Given the description of an element on the screen output the (x, y) to click on. 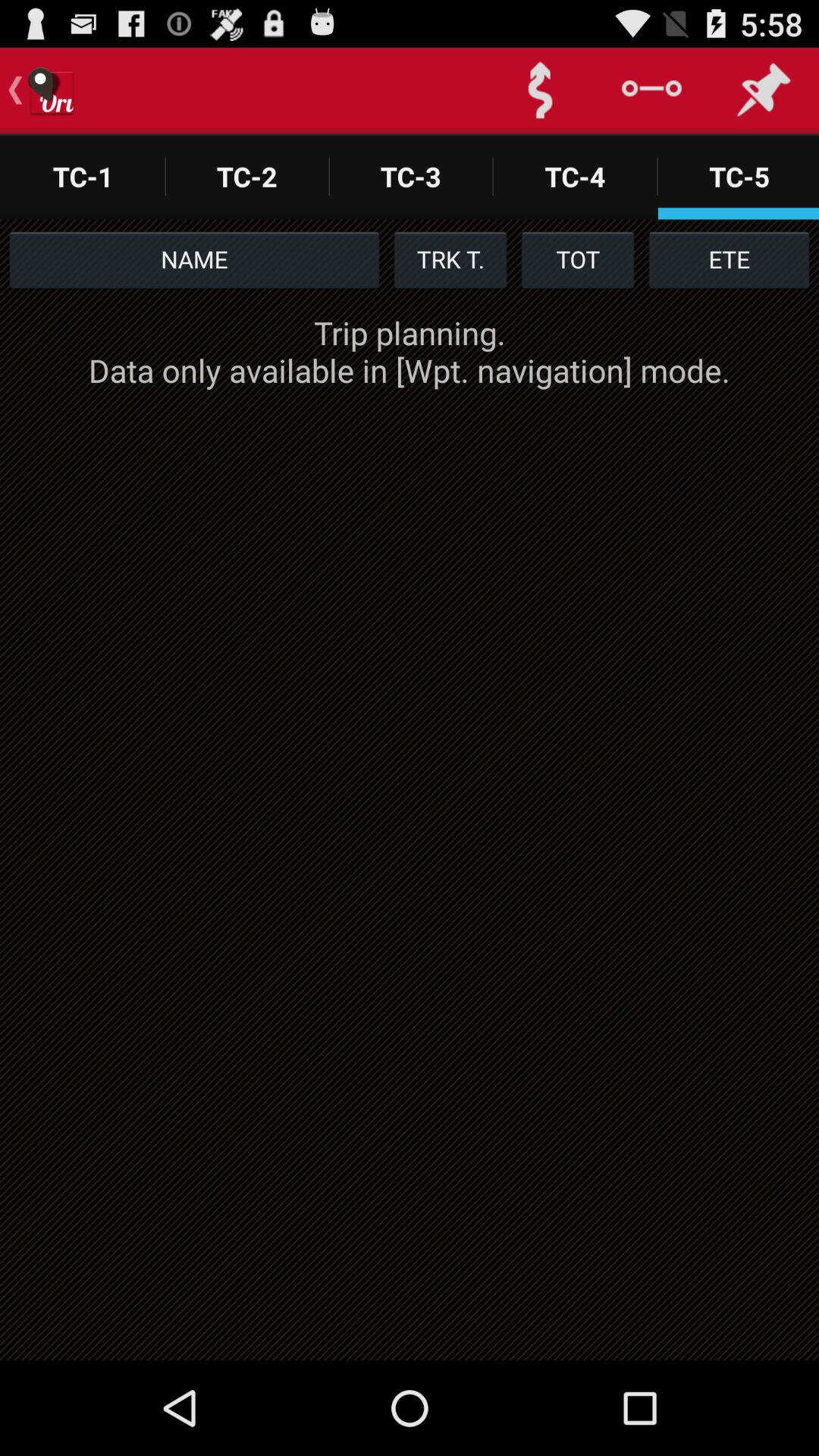
turn off the icon next to the tot button (450, 259)
